Given the description of an element on the screen output the (x, y) to click on. 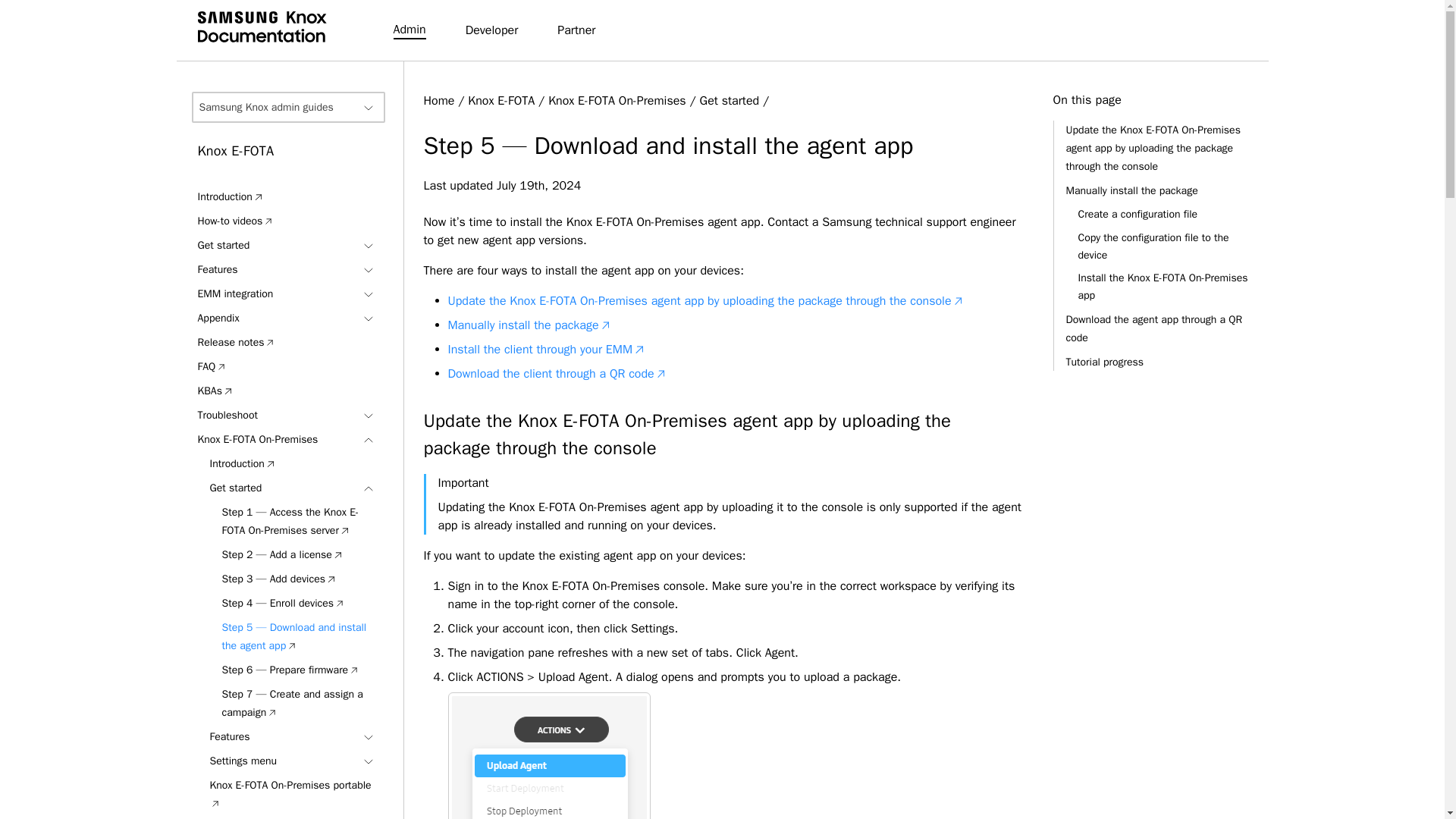
Developer (491, 30)
Samsung Knox admin guides (287, 106)
How-to videos (234, 221)
Introduction (229, 196)
Admin (409, 30)
Partner (576, 30)
